Given the description of an element on the screen output the (x, y) to click on. 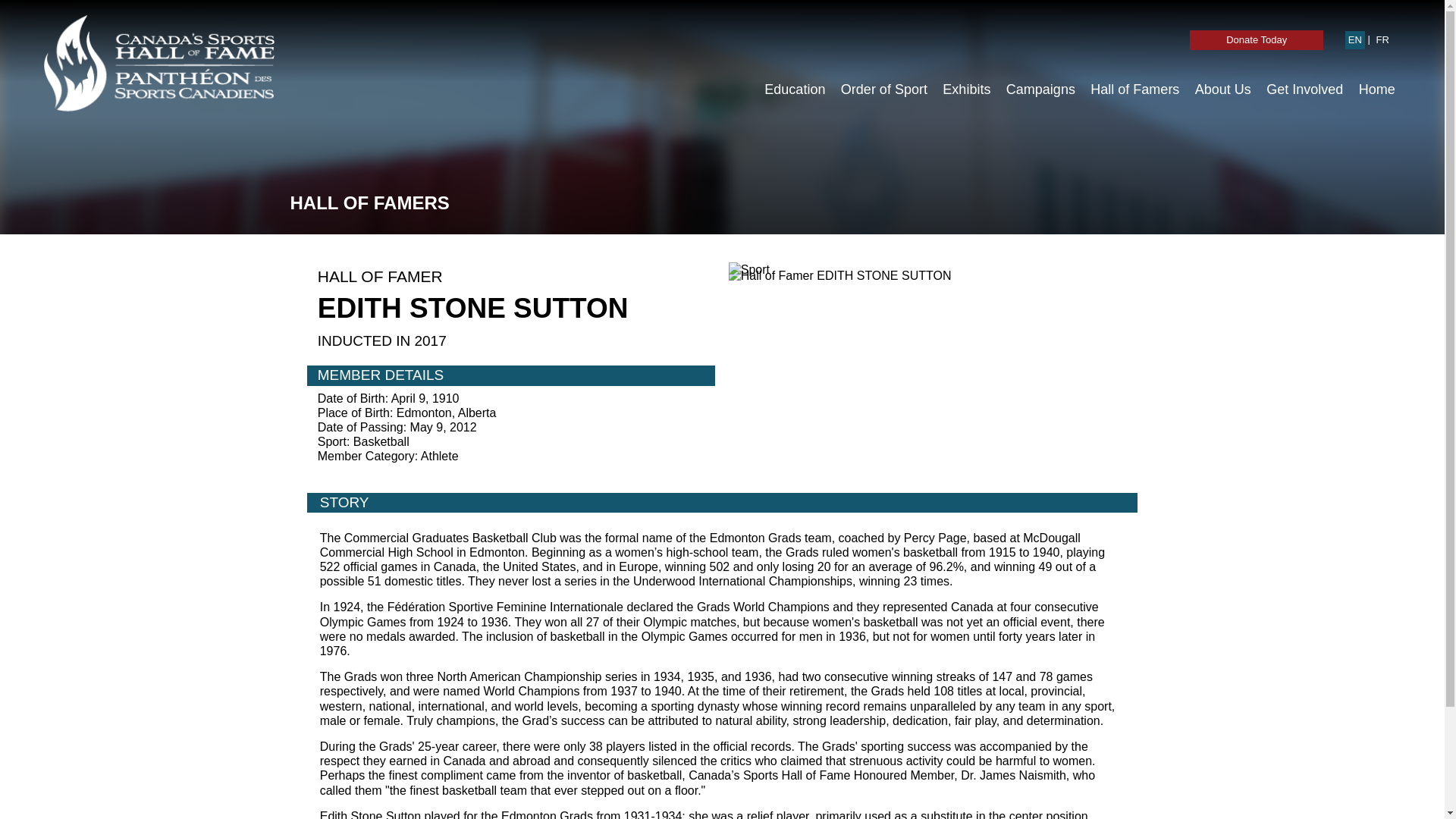
Donate Today (1256, 39)
FR (1382, 39)
Hall of Famers (1134, 89)
Campaigns (1040, 89)
Exhibits (965, 89)
Get Involved (1304, 89)
About Us (1223, 89)
Home (1376, 89)
EN (1355, 39)
Order of Sport (883, 89)
Education (794, 89)
